Given the description of an element on the screen output the (x, y) to click on. 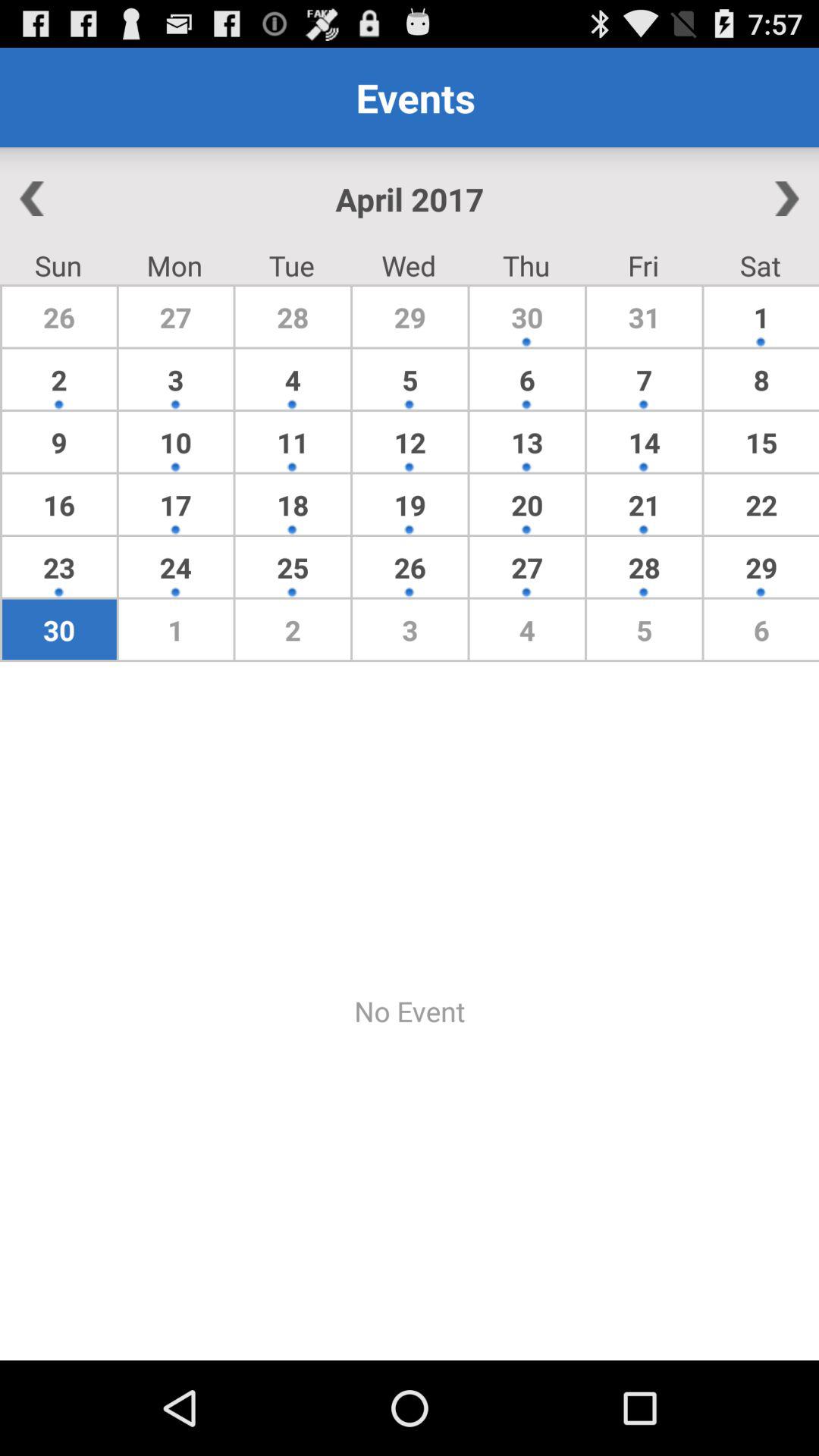
tap item below the 16 item (59, 566)
